Given the description of an element on the screen output the (x, y) to click on. 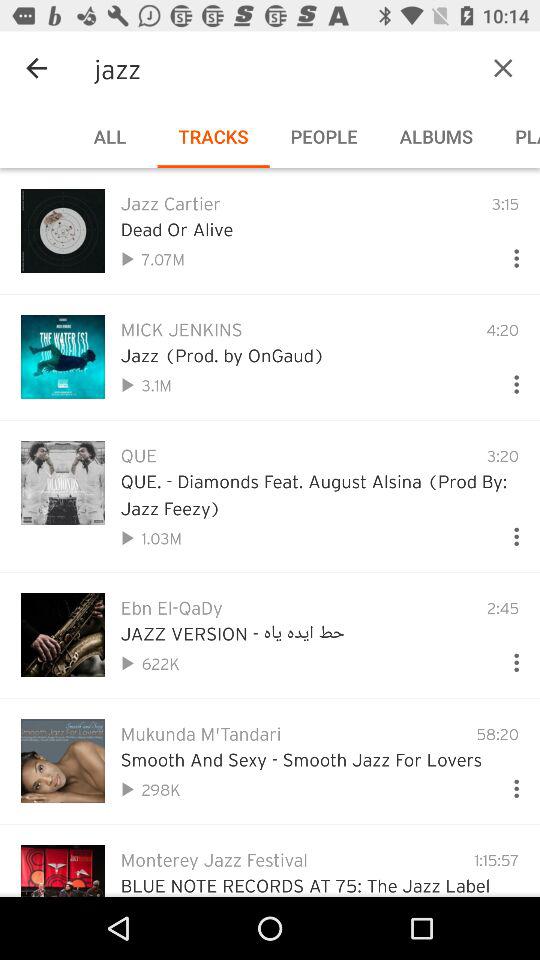
exit search (503, 68)
